Given the description of an element on the screen output the (x, y) to click on. 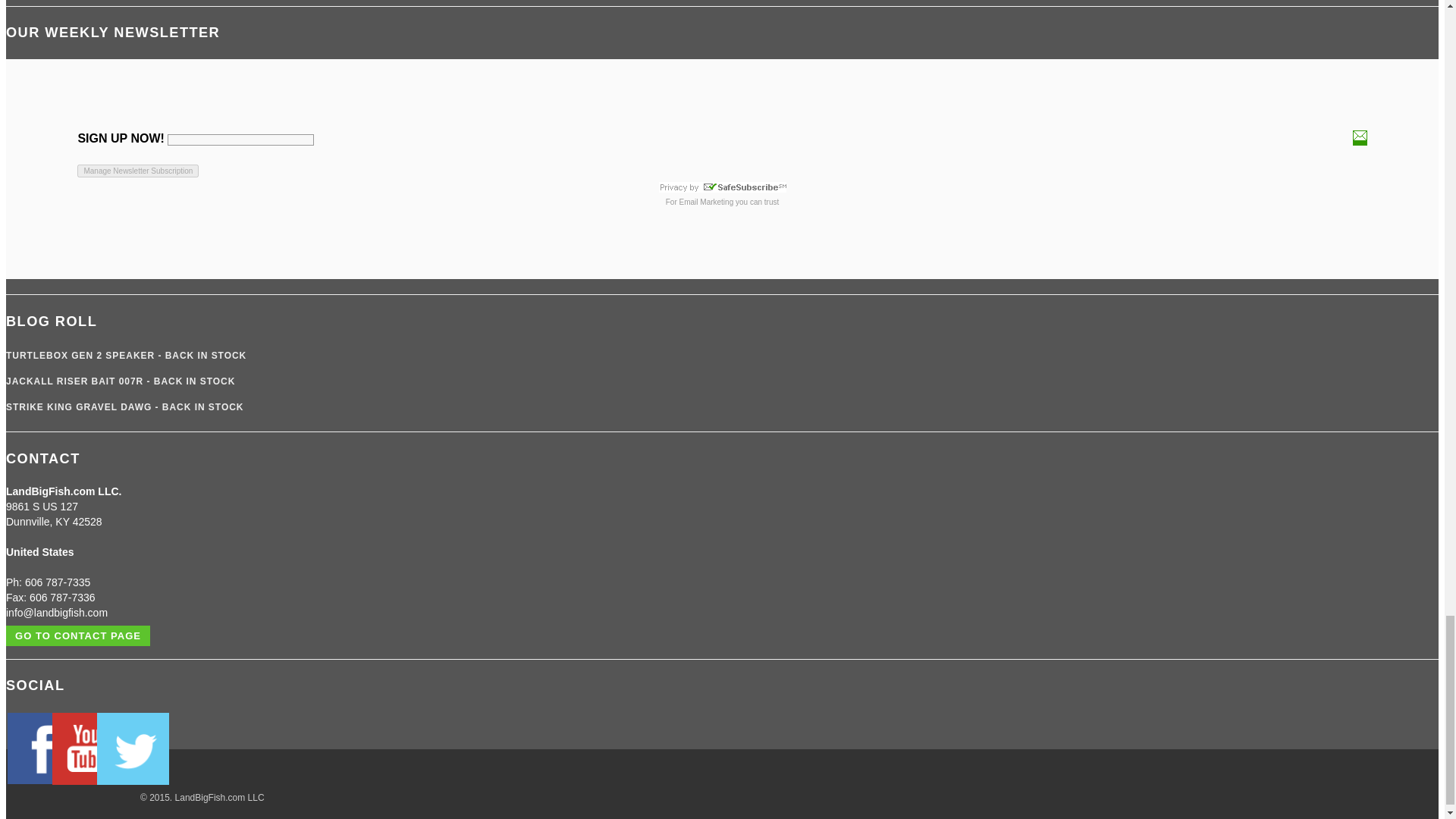
Manage Newsletter Subscription (137, 170)
